Given the description of an element on the screen output the (x, y) to click on. 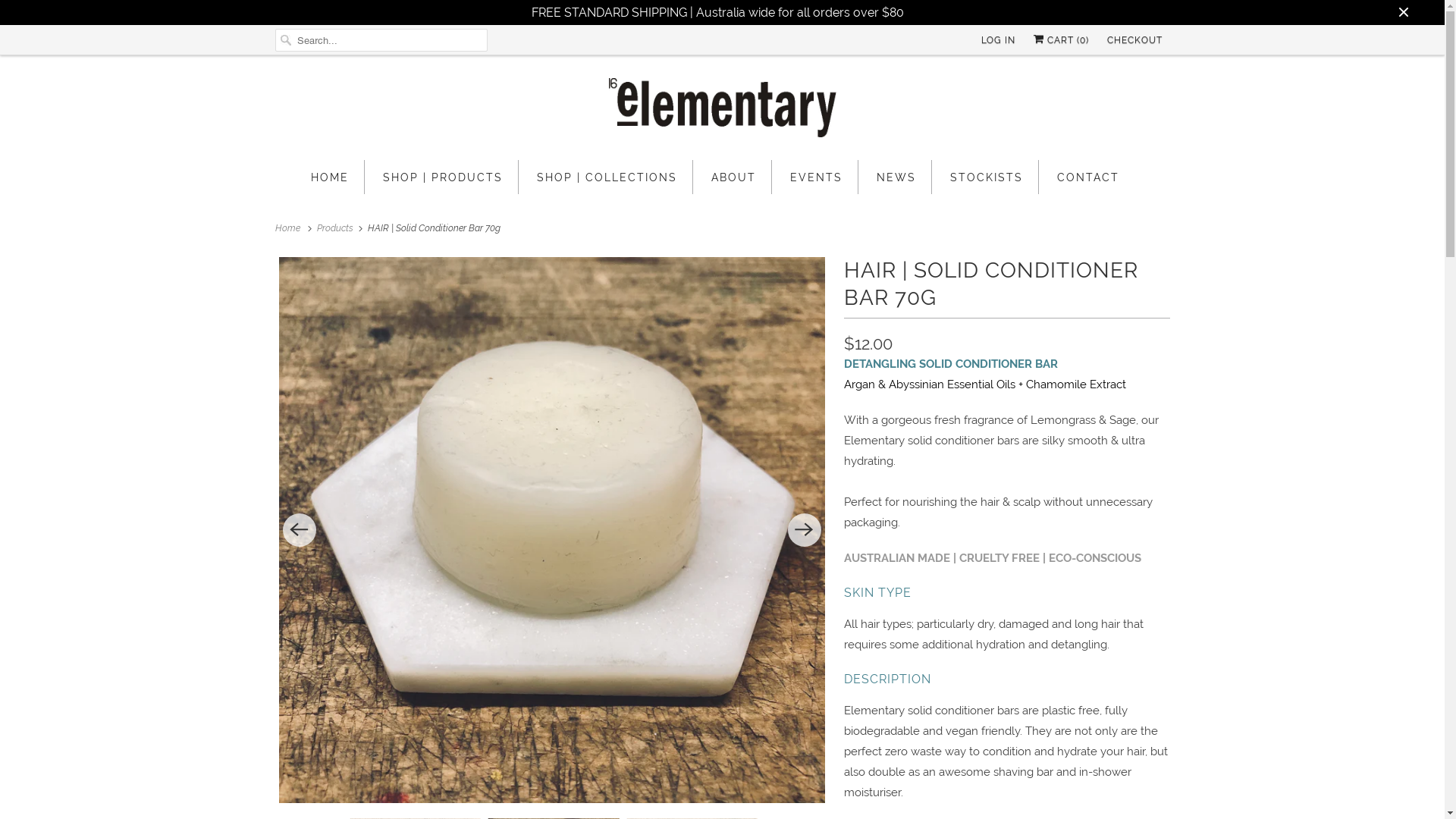
EVENTS Element type: text (816, 176)
CONTACT Element type: text (1088, 176)
SHOP | COLLECTIONS Element type: text (606, 176)
STOCKISTS Element type: text (985, 176)
CHECKOUT Element type: text (1134, 39)
CART (0) Element type: text (1060, 39)
ABOUT Element type: text (733, 176)
NEWS Element type: text (896, 176)
HOME Element type: text (329, 176)
SHOP | PRODUCTS Element type: text (442, 176)
LOG IN Element type: text (998, 39)
Home Element type: text (289, 227)
ELEMENTARY Skin Care Element type: hover (721, 111)
Products Element type: text (335, 227)
